Given the description of an element on the screen output the (x, y) to click on. 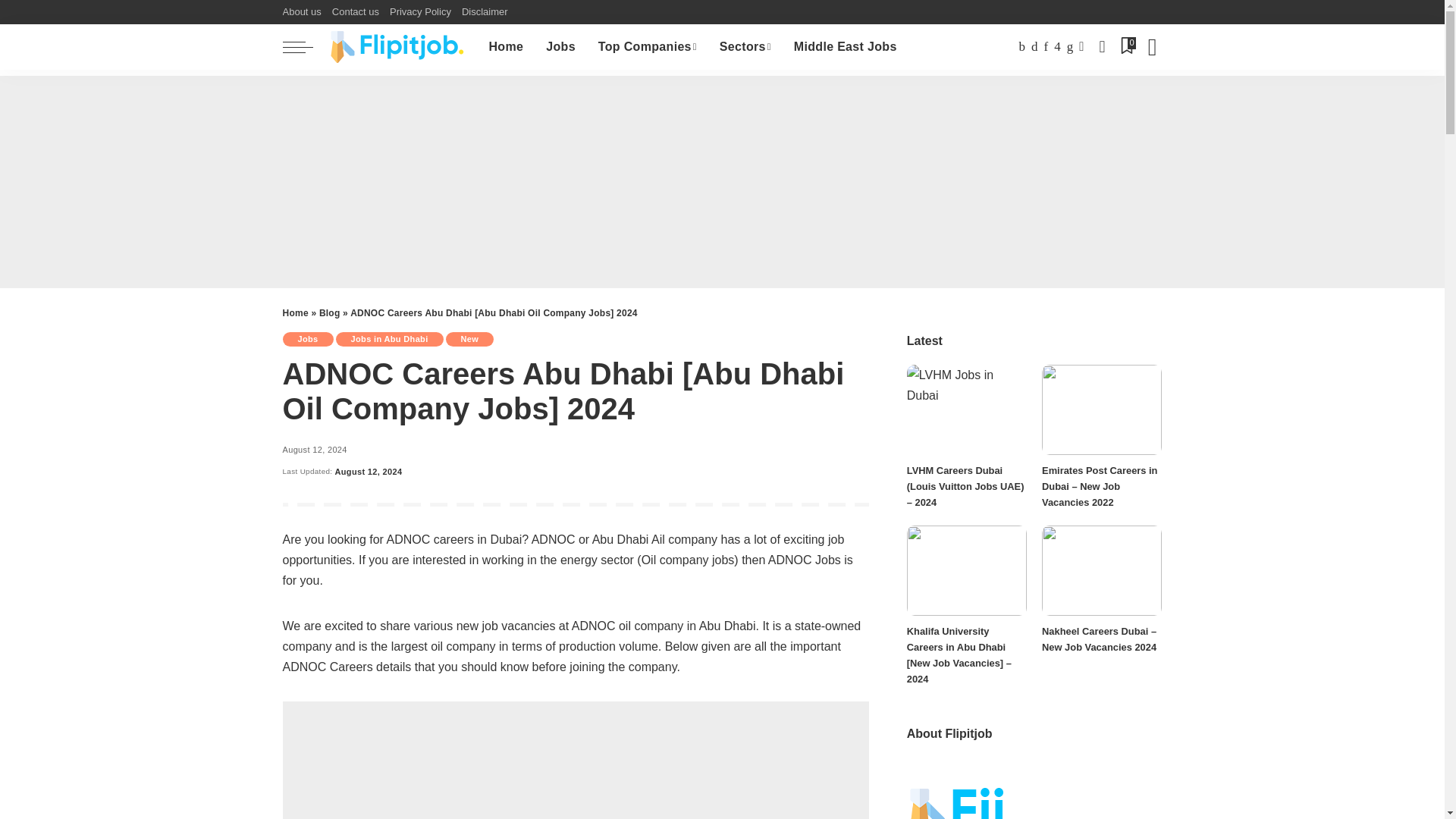
Careers Hunter (396, 46)
About us (304, 11)
Disclaimer (485, 11)
Contact us (355, 11)
Privacy Policy (420, 11)
